Given the description of an element on the screen output the (x, y) to click on. 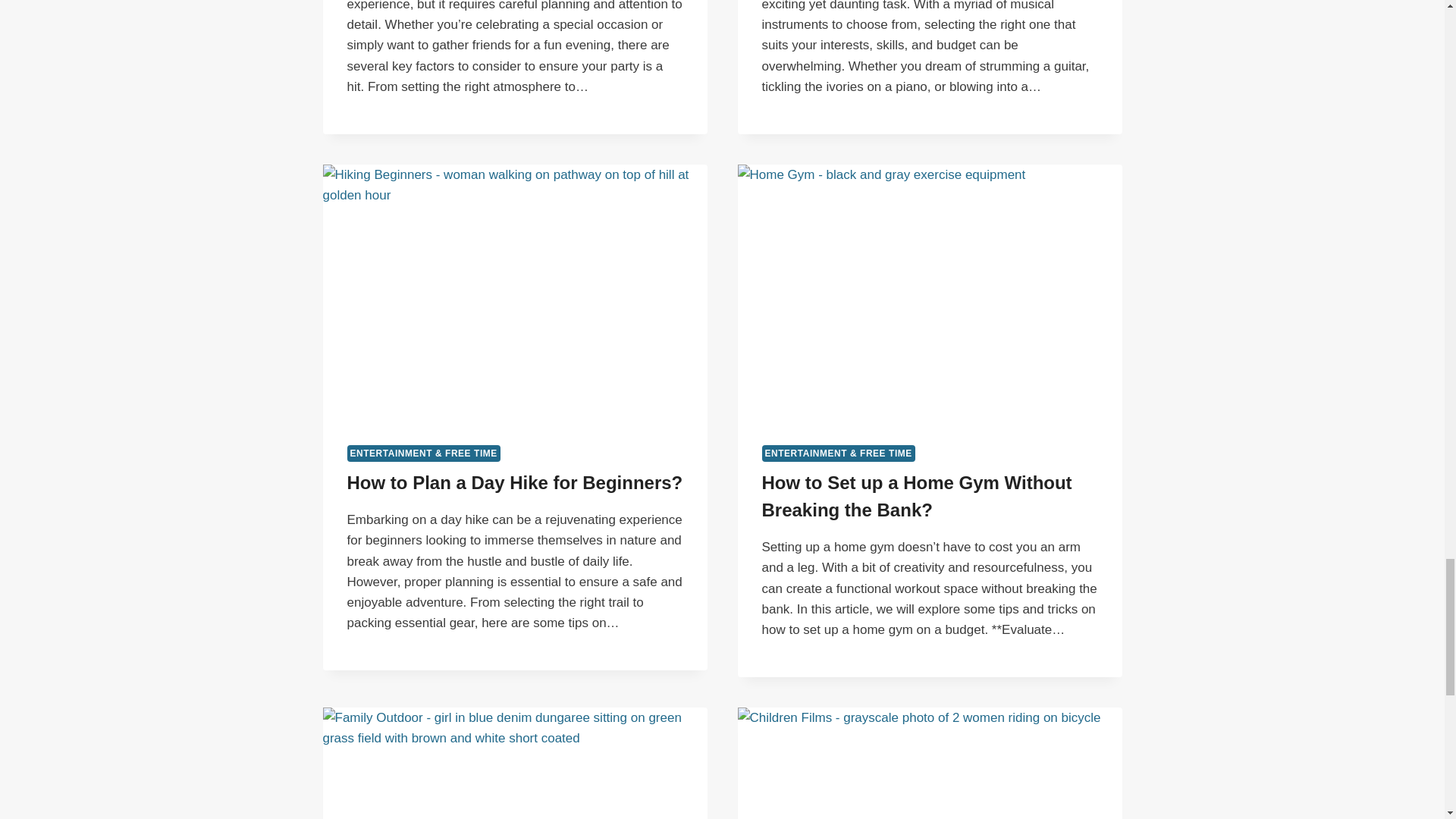
How to Set up a Home Gym Without Breaking the Bank? (916, 496)
How to Plan a Day Hike for Beginners? (514, 482)
